Given the description of an element on the screen output the (x, y) to click on. 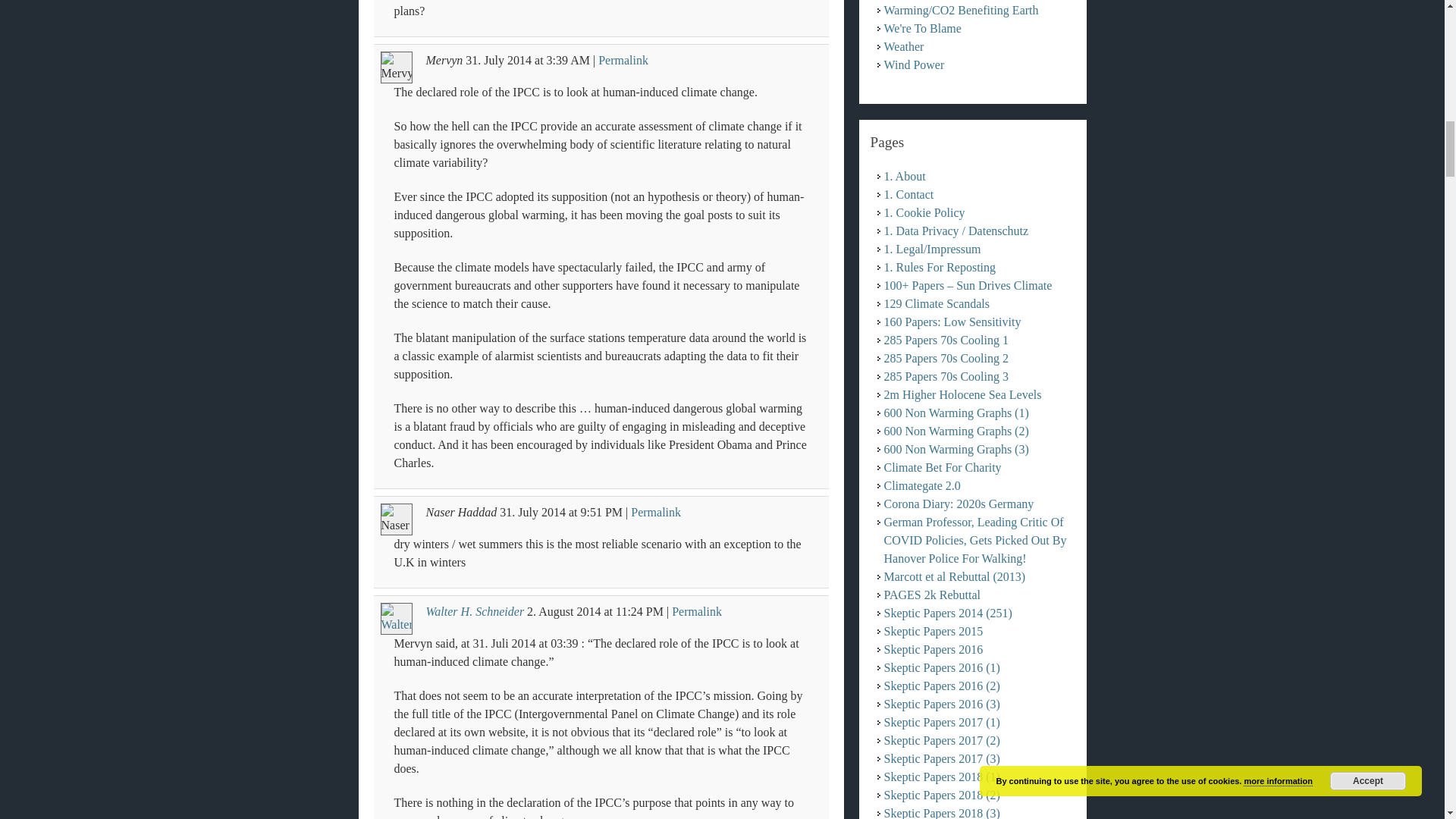
Permalink (622, 60)
Walter H. Schneider (475, 611)
Permalink (655, 512)
Permalink (696, 611)
